Given the description of an element on the screen output the (x, y) to click on. 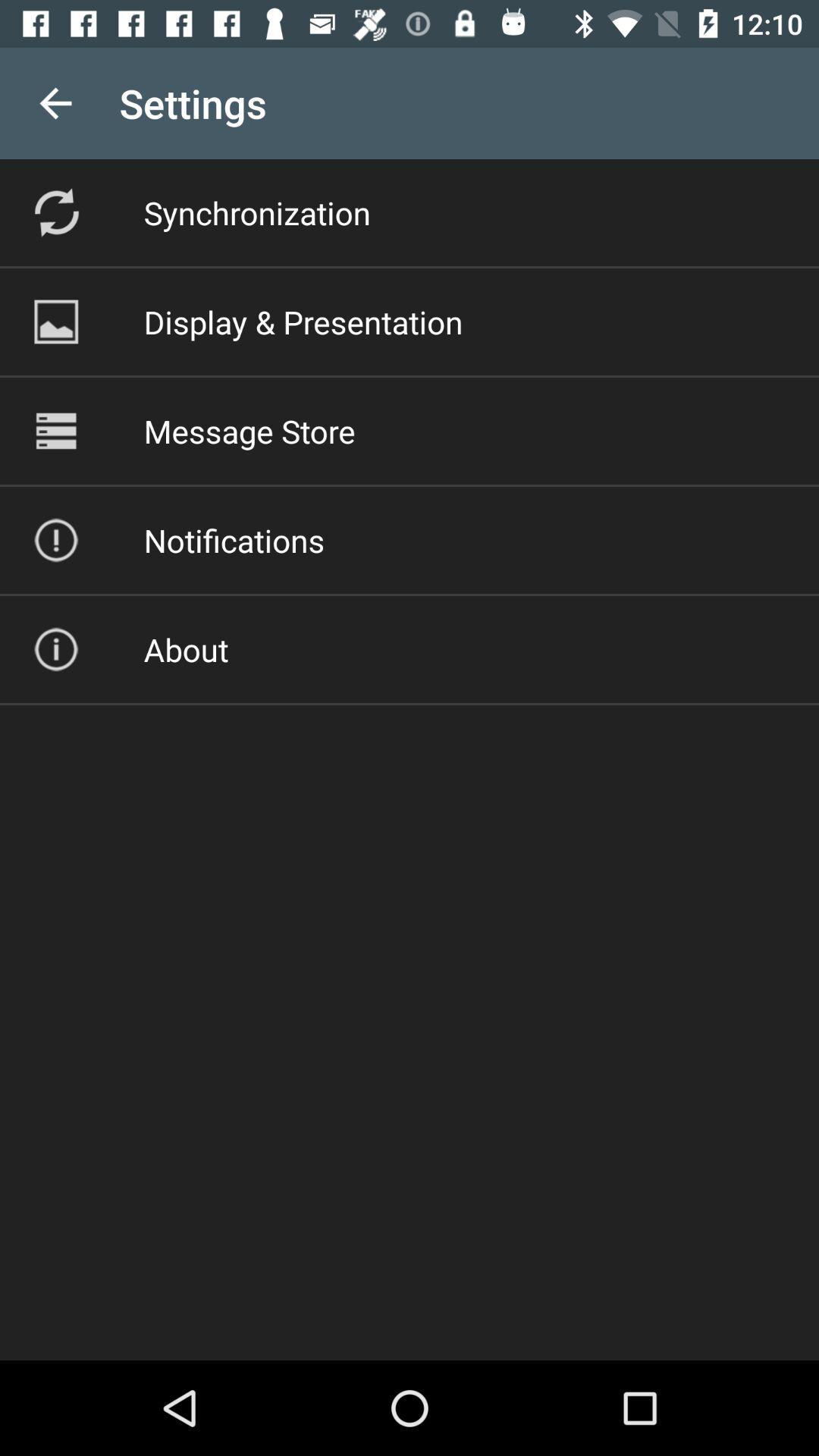
tap item below display & presentation item (249, 430)
